Given the description of an element on the screen output the (x, y) to click on. 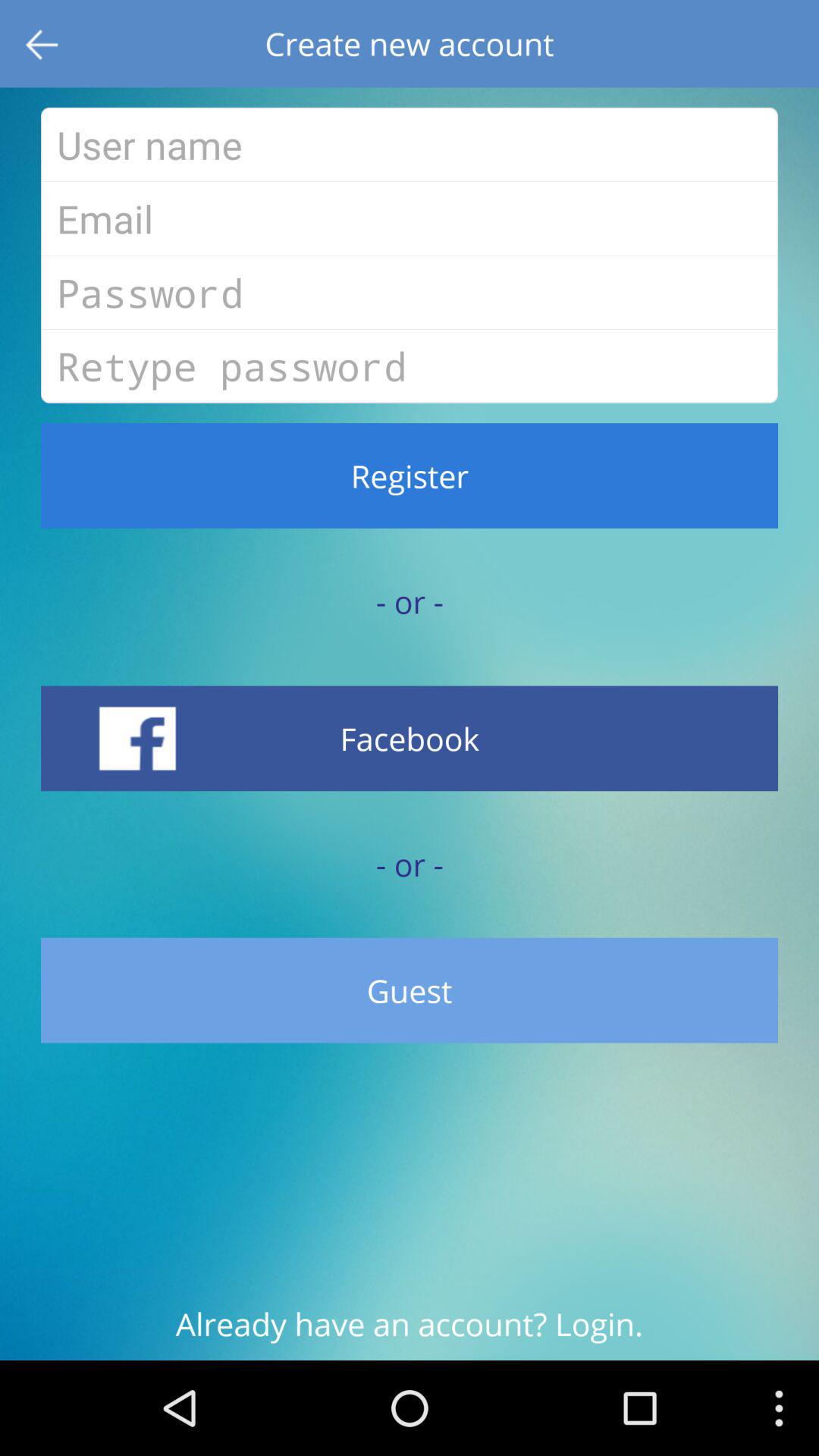
create password (409, 292)
